Given the description of an element on the screen output the (x, y) to click on. 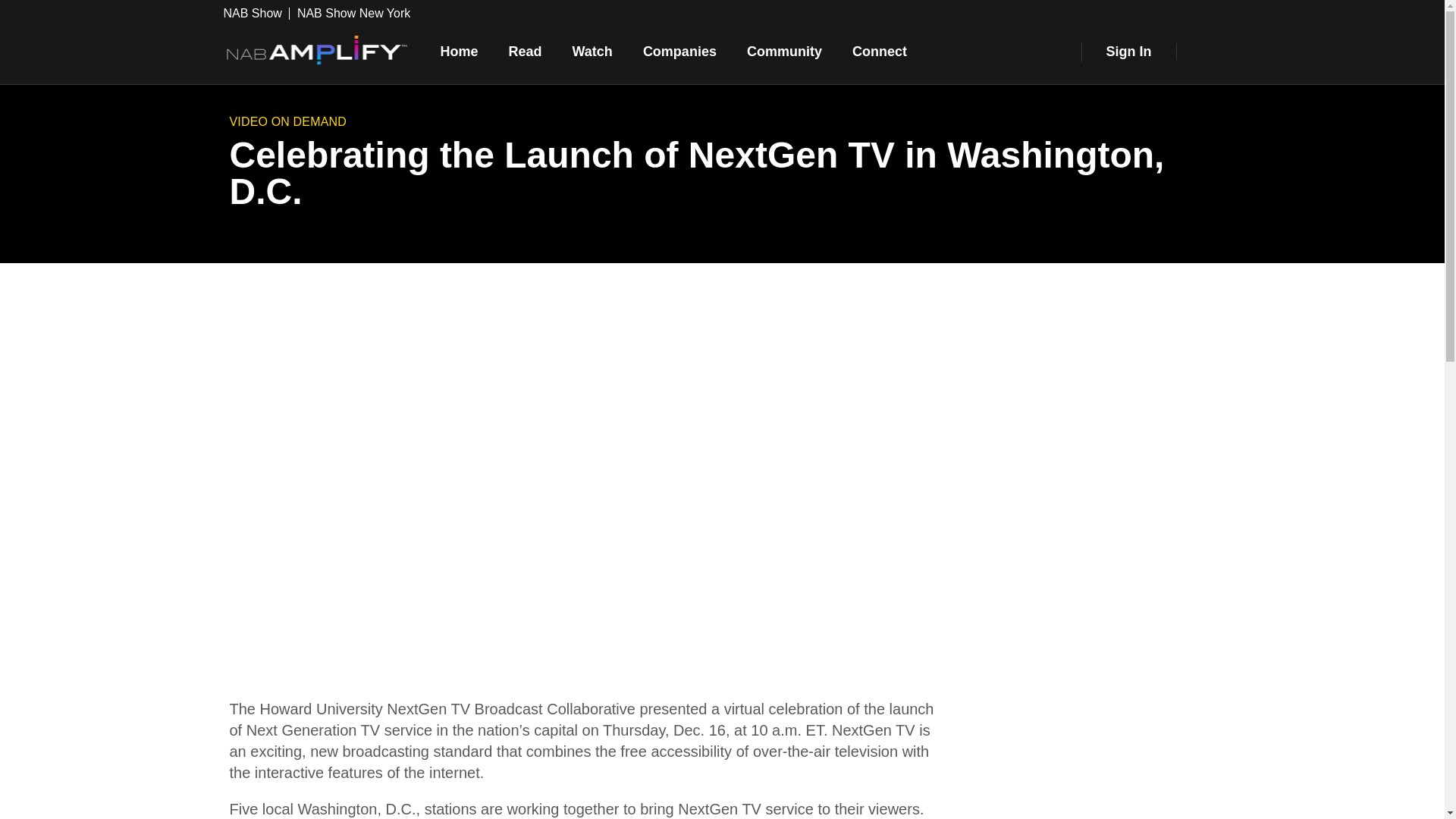
Search (1206, 51)
NAB Show New York (353, 13)
Connect (879, 51)
Home (459, 51)
Sign In (1128, 51)
NAB Show (255, 13)
Read (525, 51)
Companies (679, 51)
Community (784, 51)
Watch (592, 51)
